Given the description of an element on the screen output the (x, y) to click on. 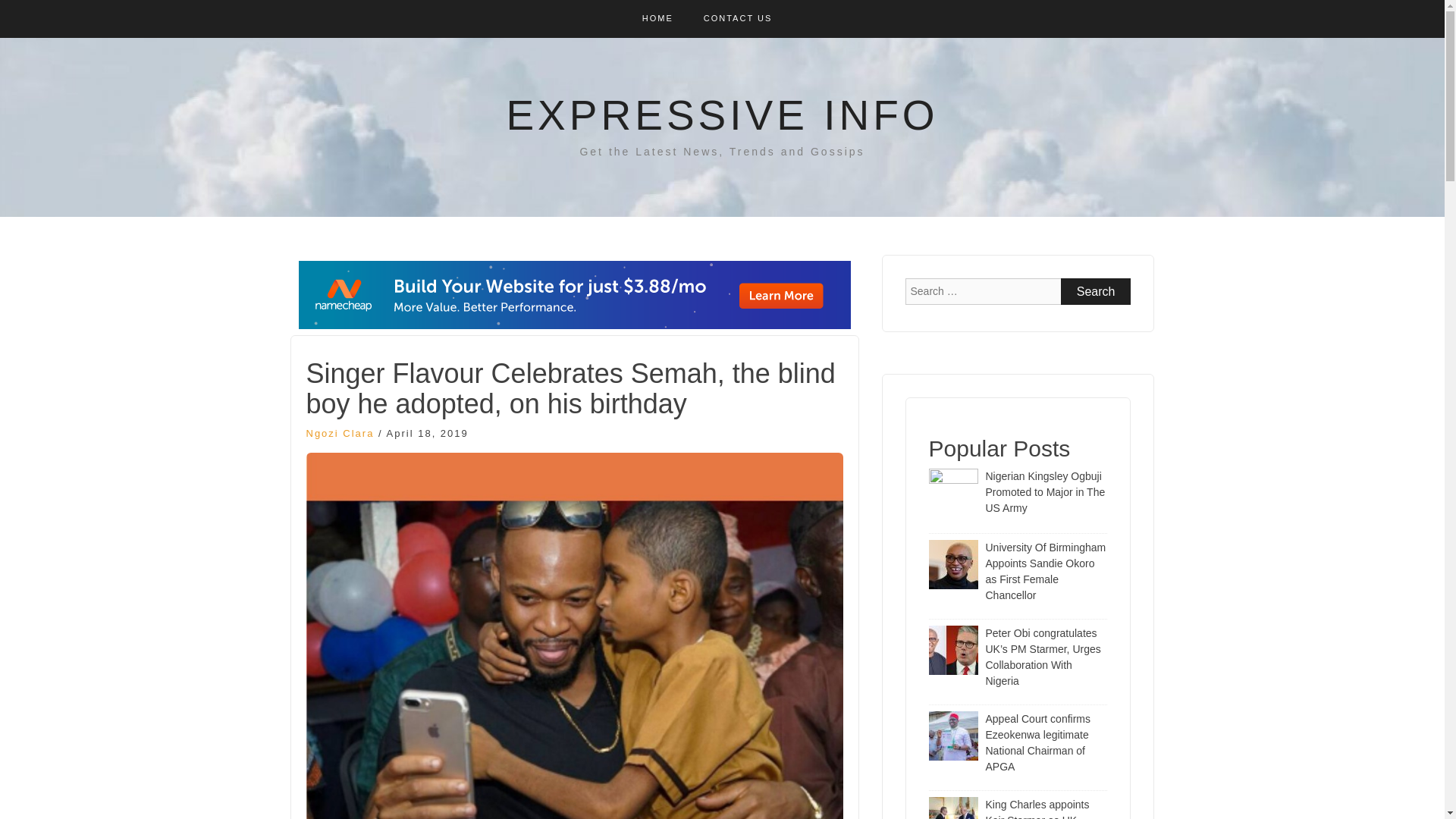
Ngozi Clara (339, 432)
EXPRESSIVE INFO (721, 114)
Search (1096, 291)
CONTACT US (738, 18)
Search (1096, 291)
Search (1096, 291)
Nigerian Kingsley Ogbuji Promoted to Major in The US Army (1045, 492)
